Given the description of an element on the screen output the (x, y) to click on. 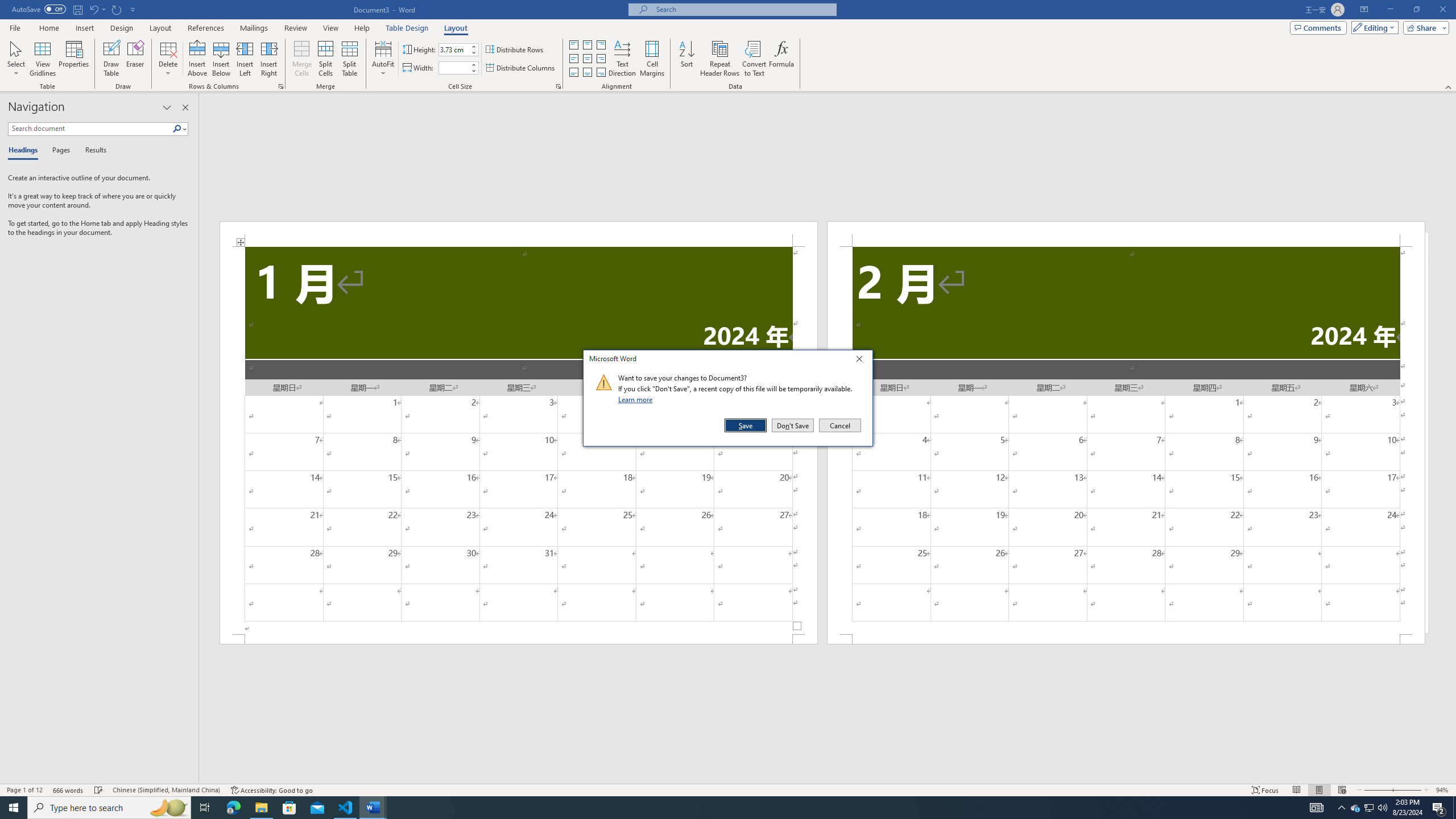
Notification Chevron (1341, 807)
Insert (83, 28)
View (330, 28)
Merge Cells (301, 58)
Language Chinese (Simplified, Mainland China) (165, 790)
Align Center (587, 58)
Running applications (717, 807)
Table Row Height (453, 49)
Layout (455, 28)
Less (473, 70)
Learn more (636, 399)
Word - 2 running windows (373, 807)
Table Column Width (453, 67)
Align Center Right (601, 58)
Repeat Doc Close (117, 9)
